Given the description of an element on the screen output the (x, y) to click on. 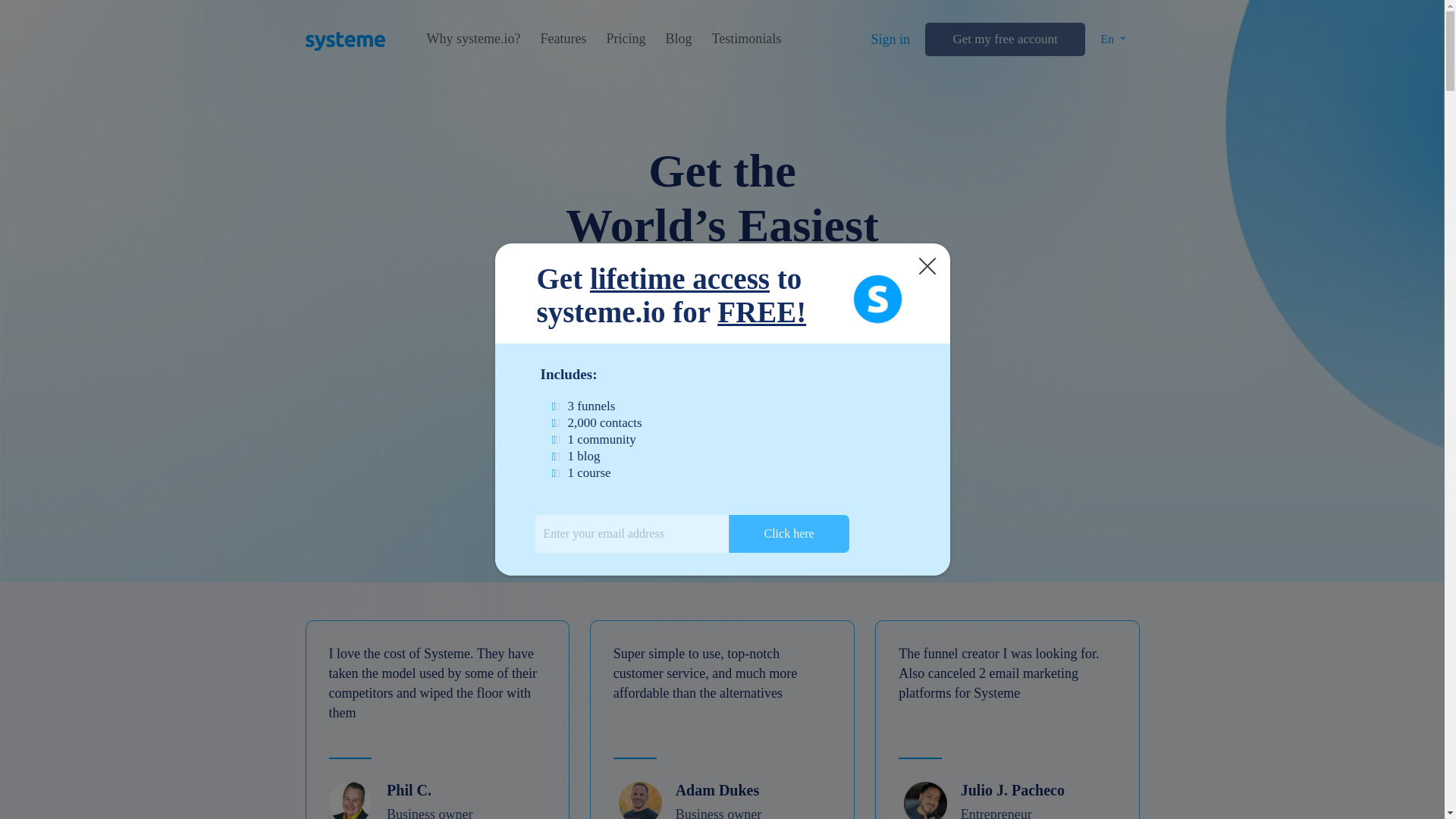
Sign in (890, 39)
Get my free account (1004, 39)
Blog (678, 38)
Pricing (625, 38)
Testimonials (745, 38)
Features (563, 38)
Why systeme.io? (472, 38)
